Given the description of an element on the screen output the (x, y) to click on. 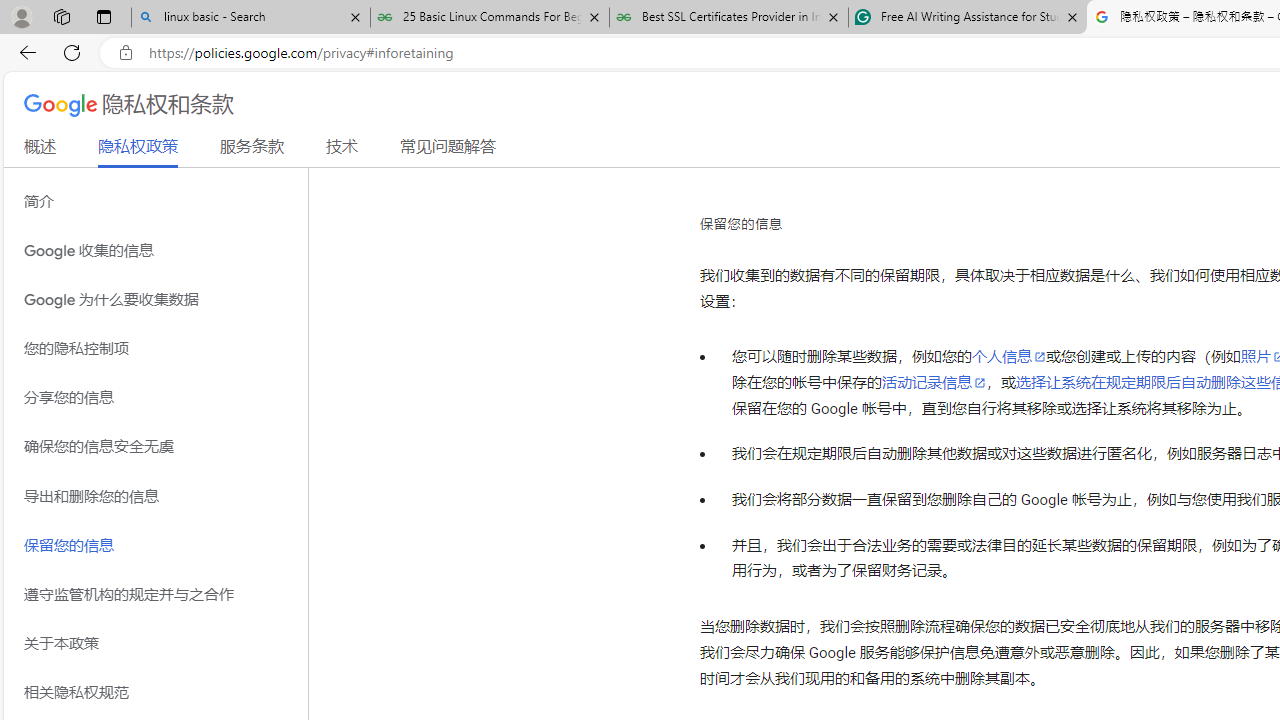
Free AI Writing Assistance for Students | Grammarly (967, 17)
25 Basic Linux Commands For Beginners - GeeksforGeeks (490, 17)
Best SSL Certificates Provider in India - GeeksforGeeks (729, 17)
linux basic - Search (250, 17)
